Given the description of an element on the screen output the (x, y) to click on. 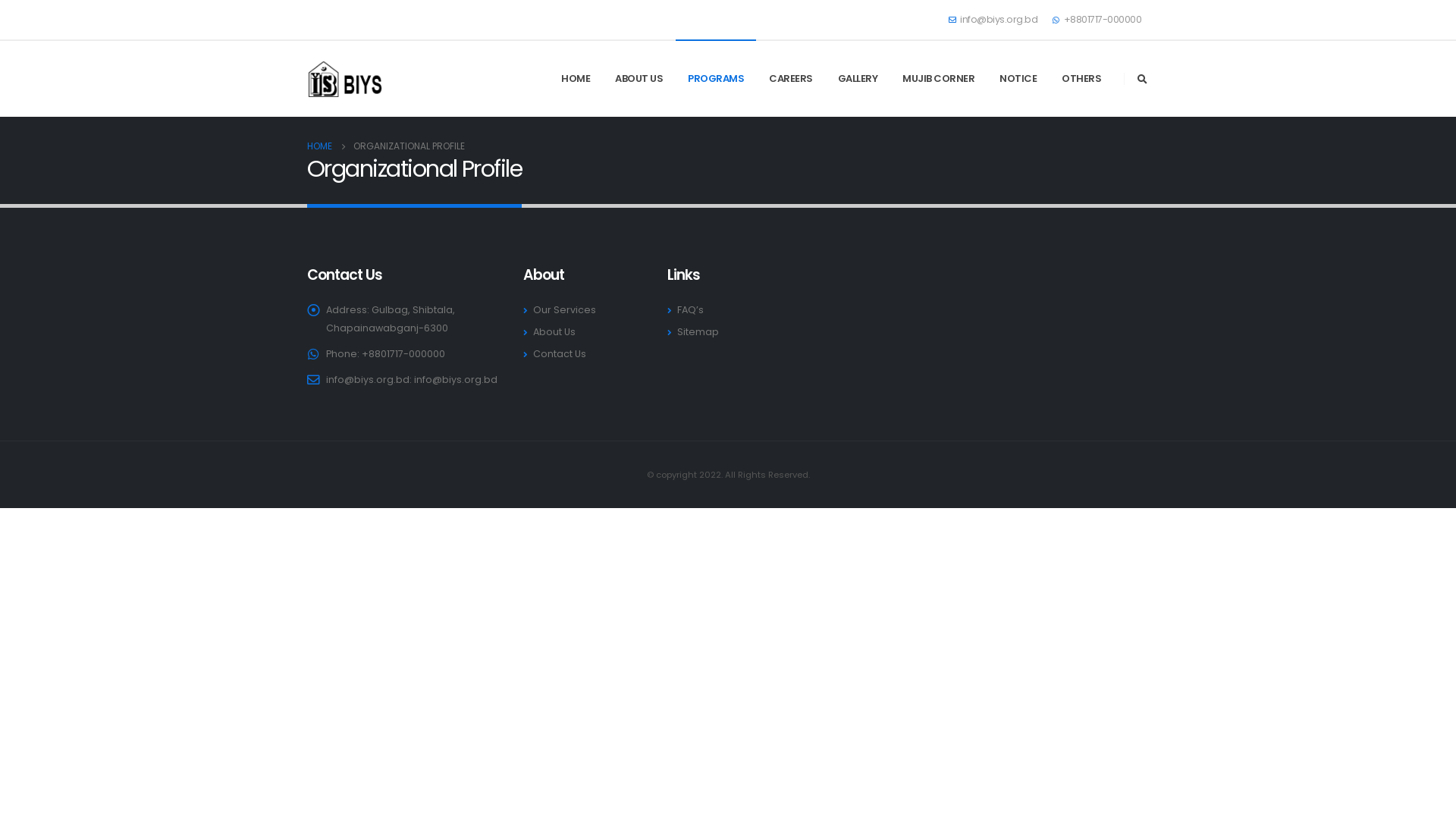
OTHERS Element type: text (1081, 78)
NOTICE Element type: text (1017, 78)
MUJIB CORNER Element type: text (938, 78)
HOME Element type: text (319, 146)
GALLERY Element type: text (857, 78)
CAREERS Element type: text (790, 78)
+8801717-000000 Element type: text (1096, 19)
Biys - Bangladesh Element type: hover (344, 78)
HOME Element type: text (575, 78)
info@biys.org.bd Element type: text (455, 379)
ABOUT US Element type: text (638, 78)
PROGRAMS Element type: text (715, 78)
info@biys.org.bd Element type: text (995, 19)
